Given the description of an element on the screen output the (x, y) to click on. 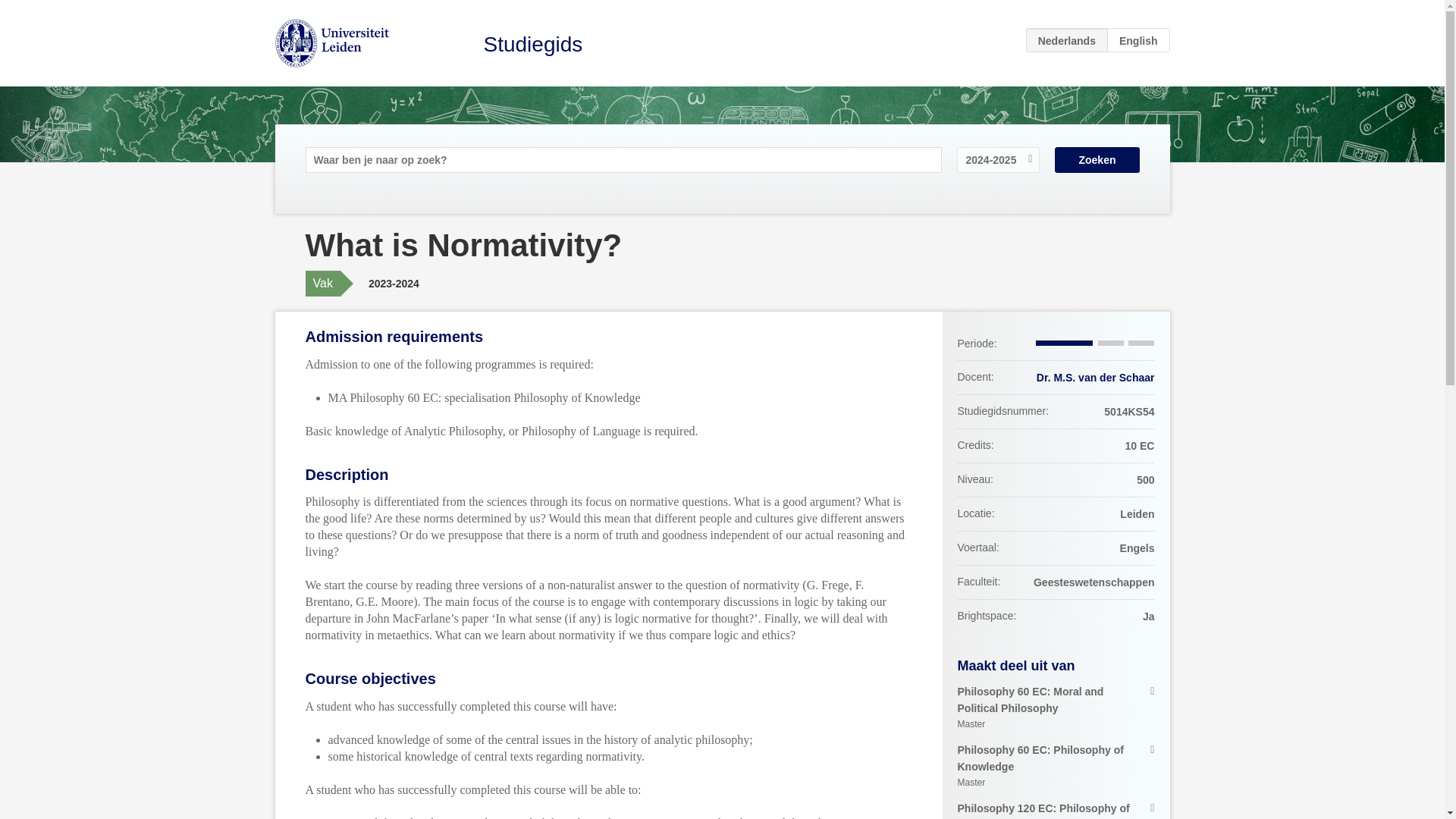
EN (1138, 39)
Zoeken (1096, 159)
Dr. M.S. van der Schaar (1055, 708)
Studiegids (1055, 766)
